Given the description of an element on the screen output the (x, y) to click on. 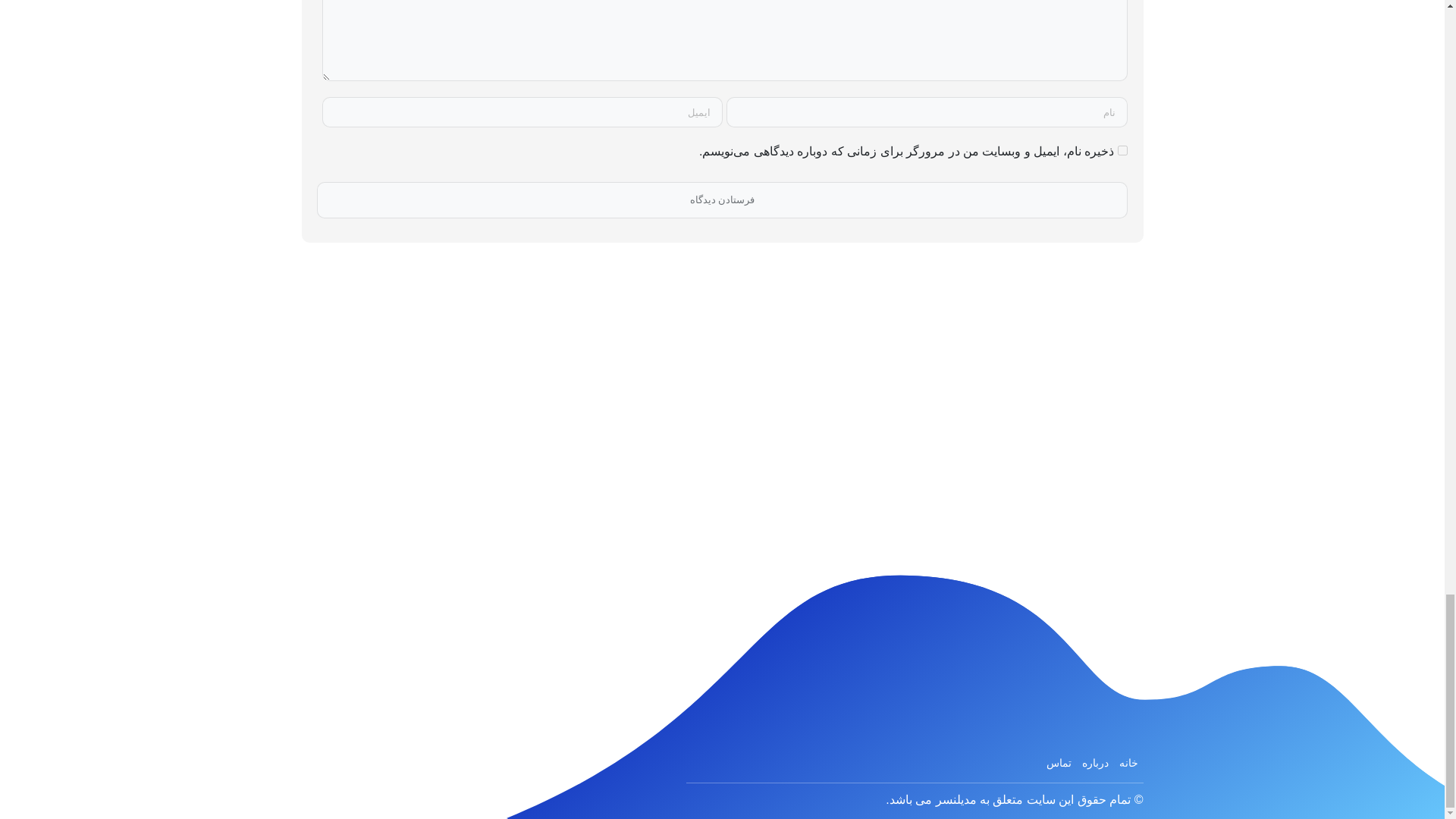
yes (1122, 150)
